Given the description of an element on the screen output the (x, y) to click on. 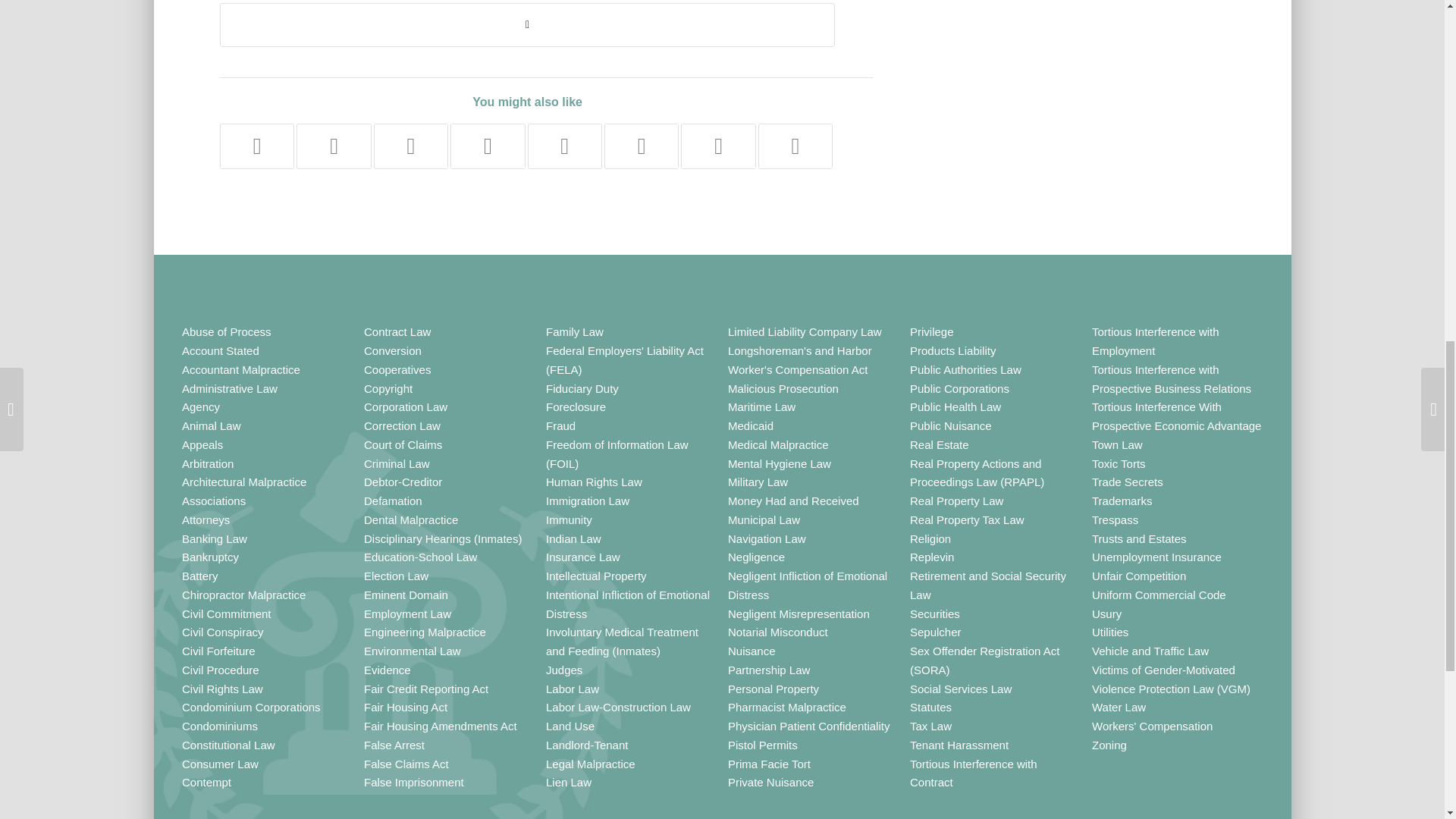
Accountant Malpractice (240, 369)
Architectural Malpractice (243, 481)
Agency (200, 406)
Administrative Law (230, 388)
Associations (214, 500)
Arbitration (207, 463)
Battery (200, 575)
Appeals (202, 444)
Account Stated (220, 350)
Chiropractor Malpractice (243, 594)
Banking Law (214, 538)
Abuse of Process (226, 331)
Civil Commitment (226, 613)
